Given the description of an element on the screen output the (x, y) to click on. 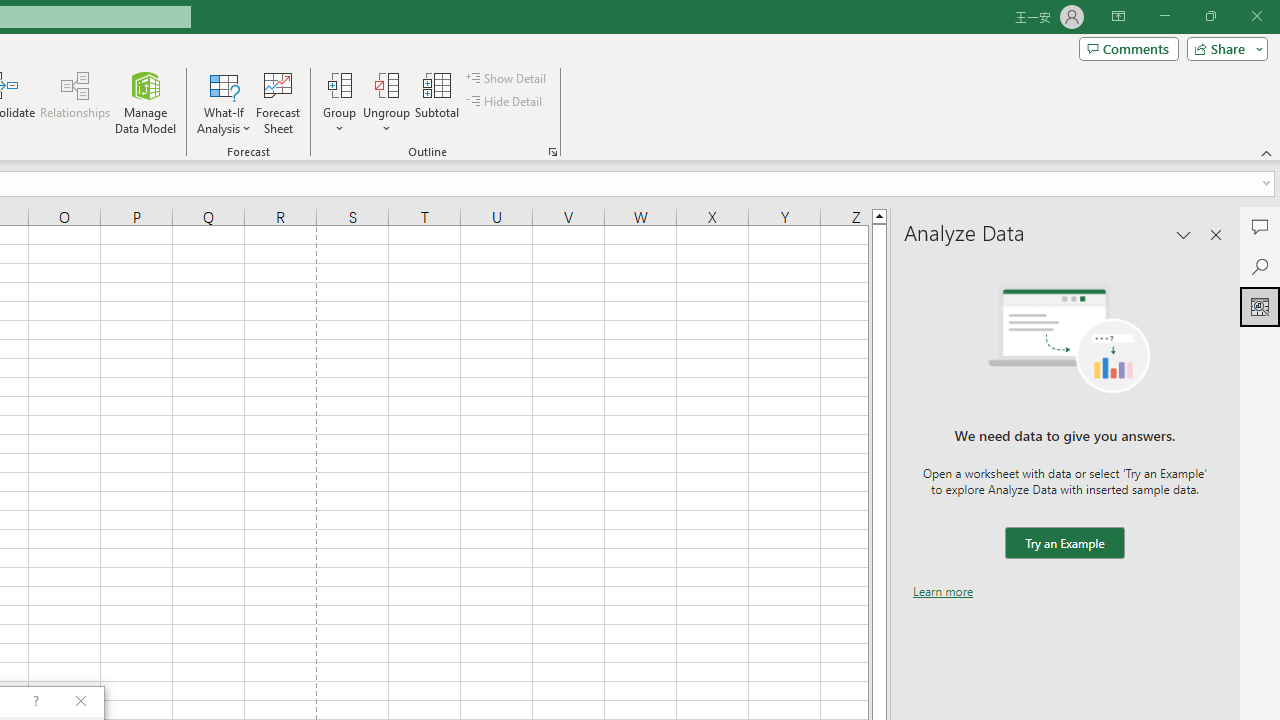
Manage Data Model (145, 102)
Show Detail (507, 78)
We need data to give you answers. Try an Example (1064, 543)
Search (1260, 266)
Learn more (943, 591)
Subtotal (437, 102)
